Given the description of an element on the screen output the (x, y) to click on. 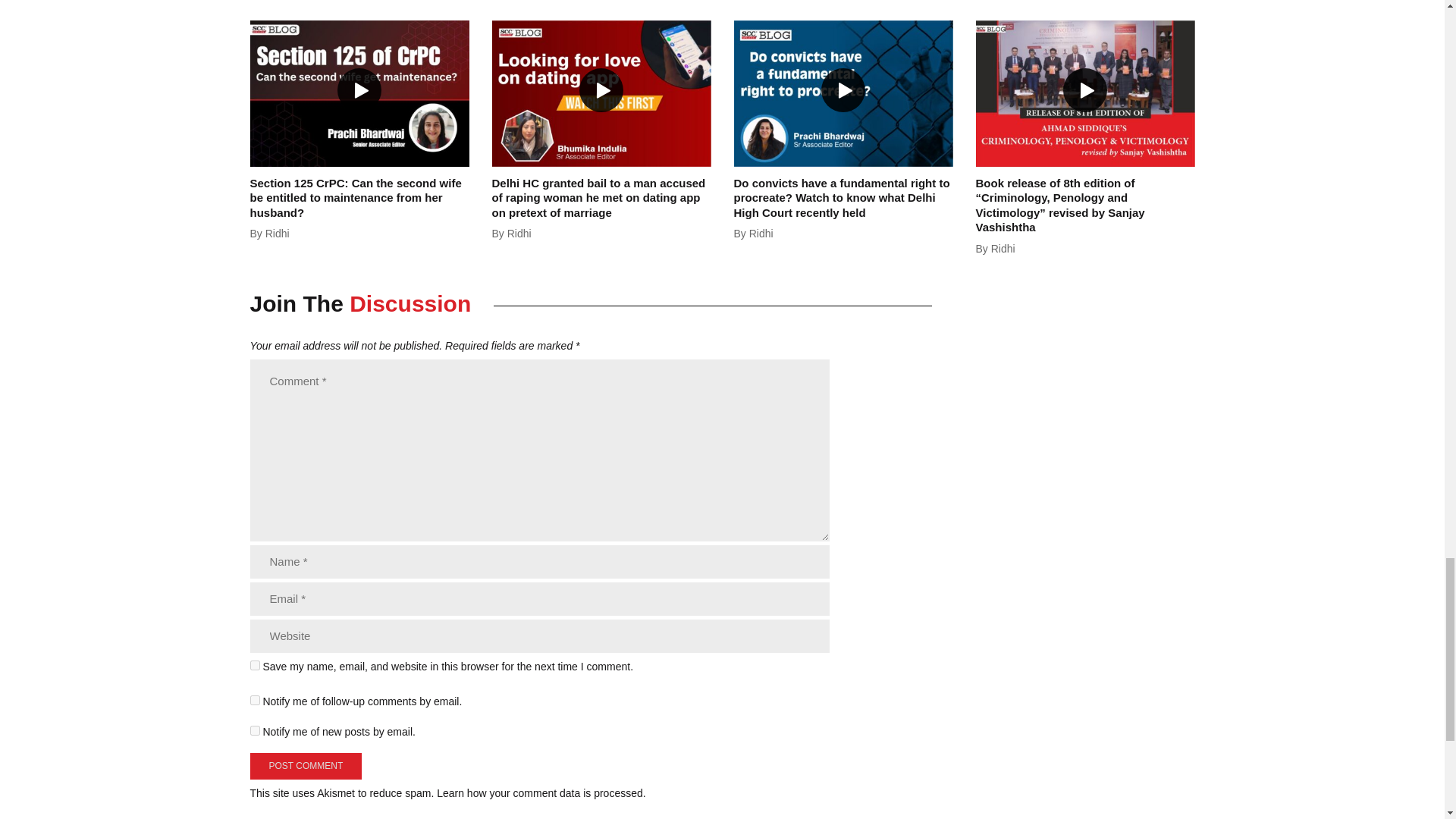
Post Comment (306, 765)
subscribe (255, 700)
yes (255, 665)
subscribe (255, 730)
